Given the description of an element on the screen output the (x, y) to click on. 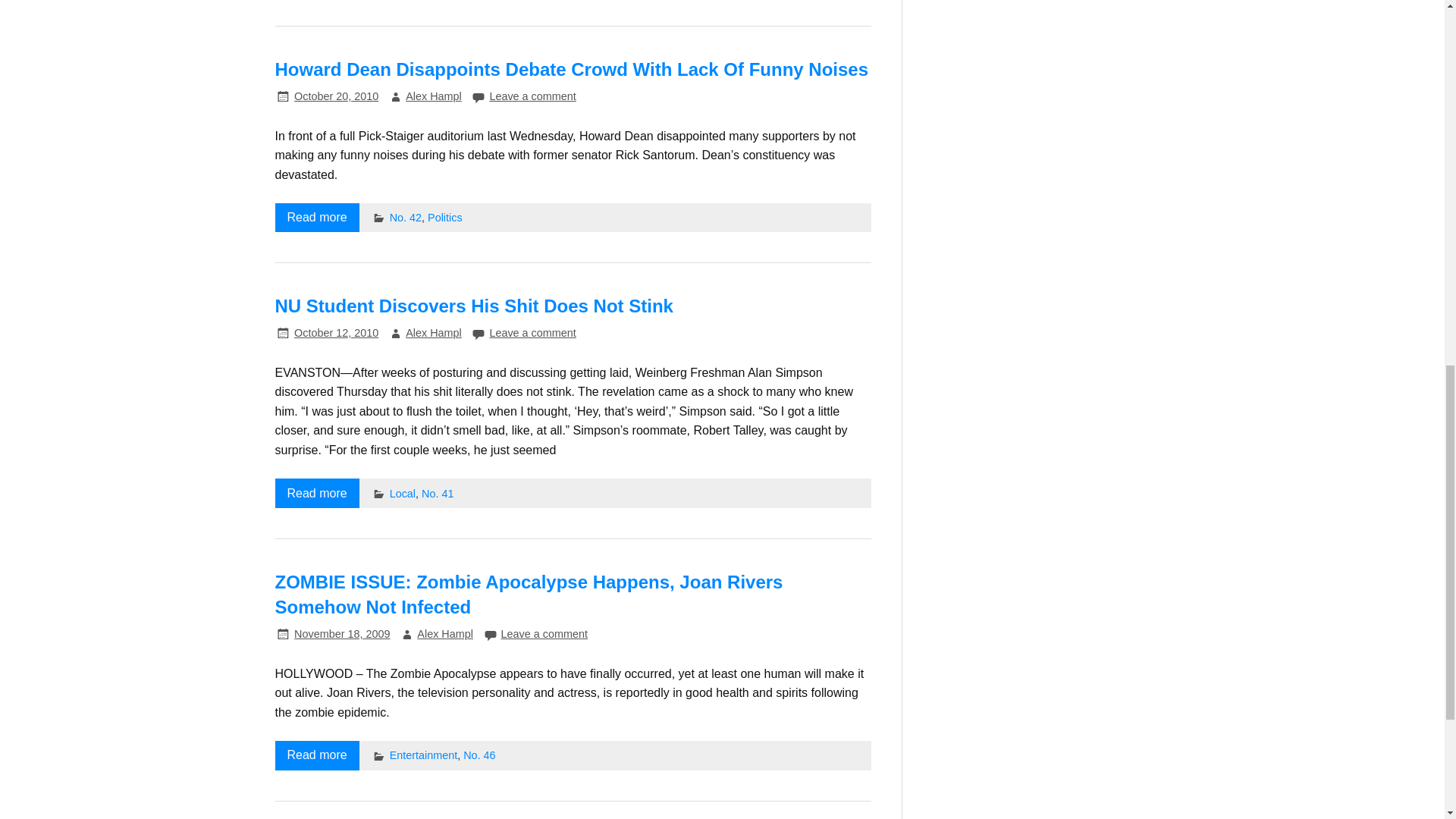
8:17 pm (336, 96)
View all posts by Alex Hampl (444, 633)
View all posts by Alex Hampl (433, 332)
11:36 pm (342, 633)
10:21 pm (336, 332)
View all posts by Alex Hampl (433, 96)
